Given the description of an element on the screen output the (x, y) to click on. 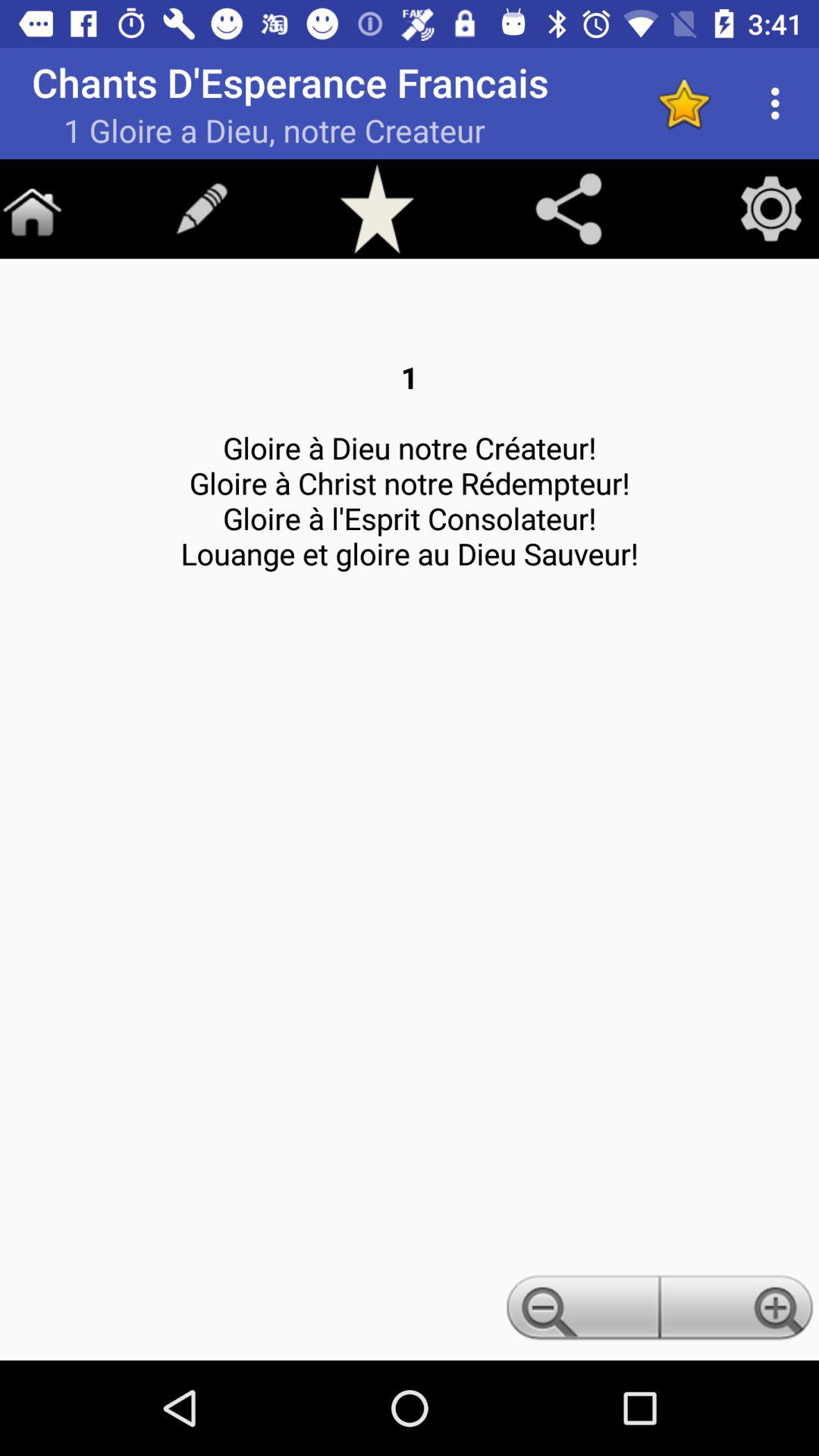
enlarge (739, 1311)
